Given the description of an element on the screen output the (x, y) to click on. 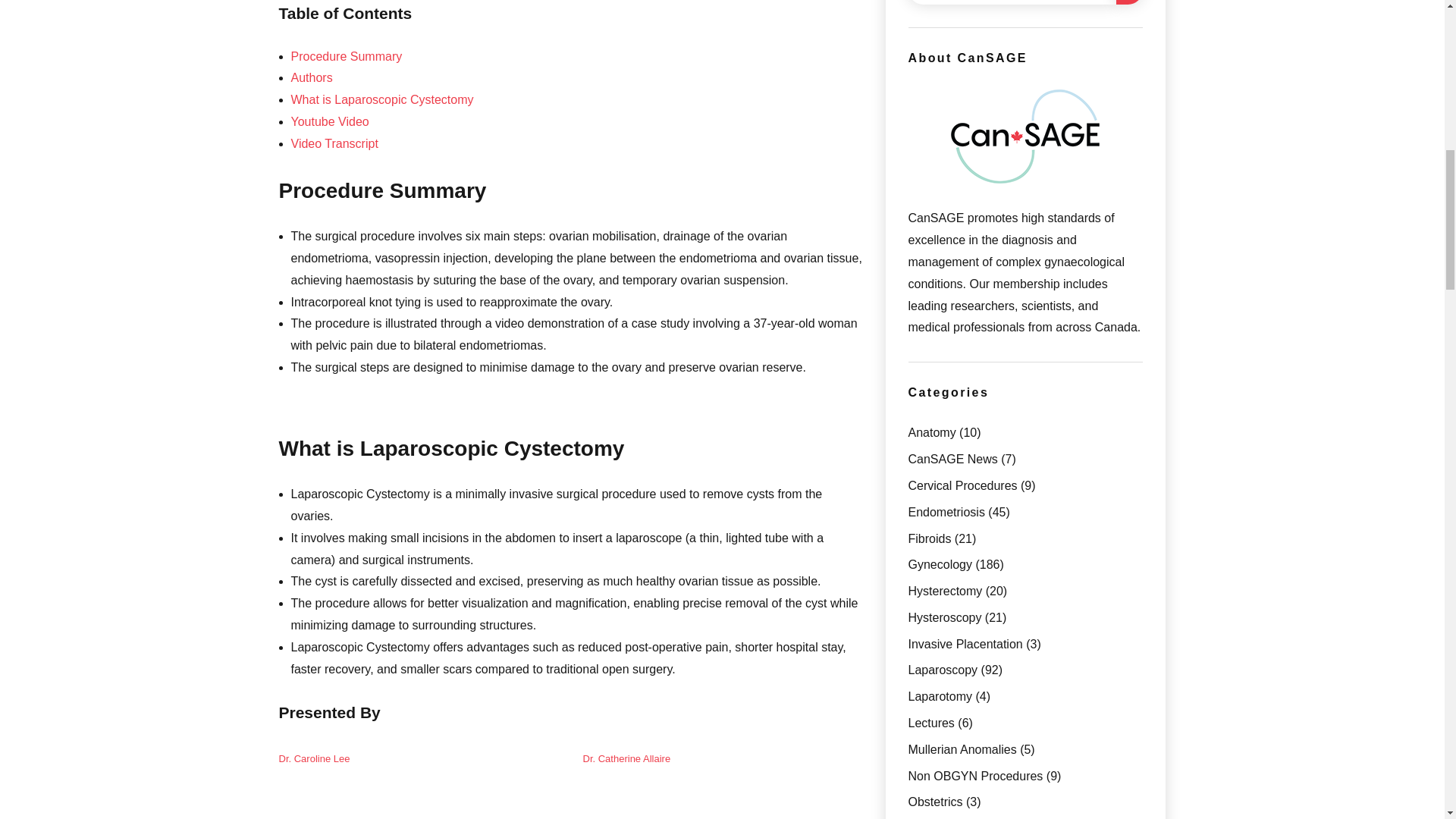
Dr. Caroline Lee (314, 758)
What is Laparoscopic Cystectomy (382, 99)
Video Transcript (334, 143)
